Given the description of an element on the screen output the (x, y) to click on. 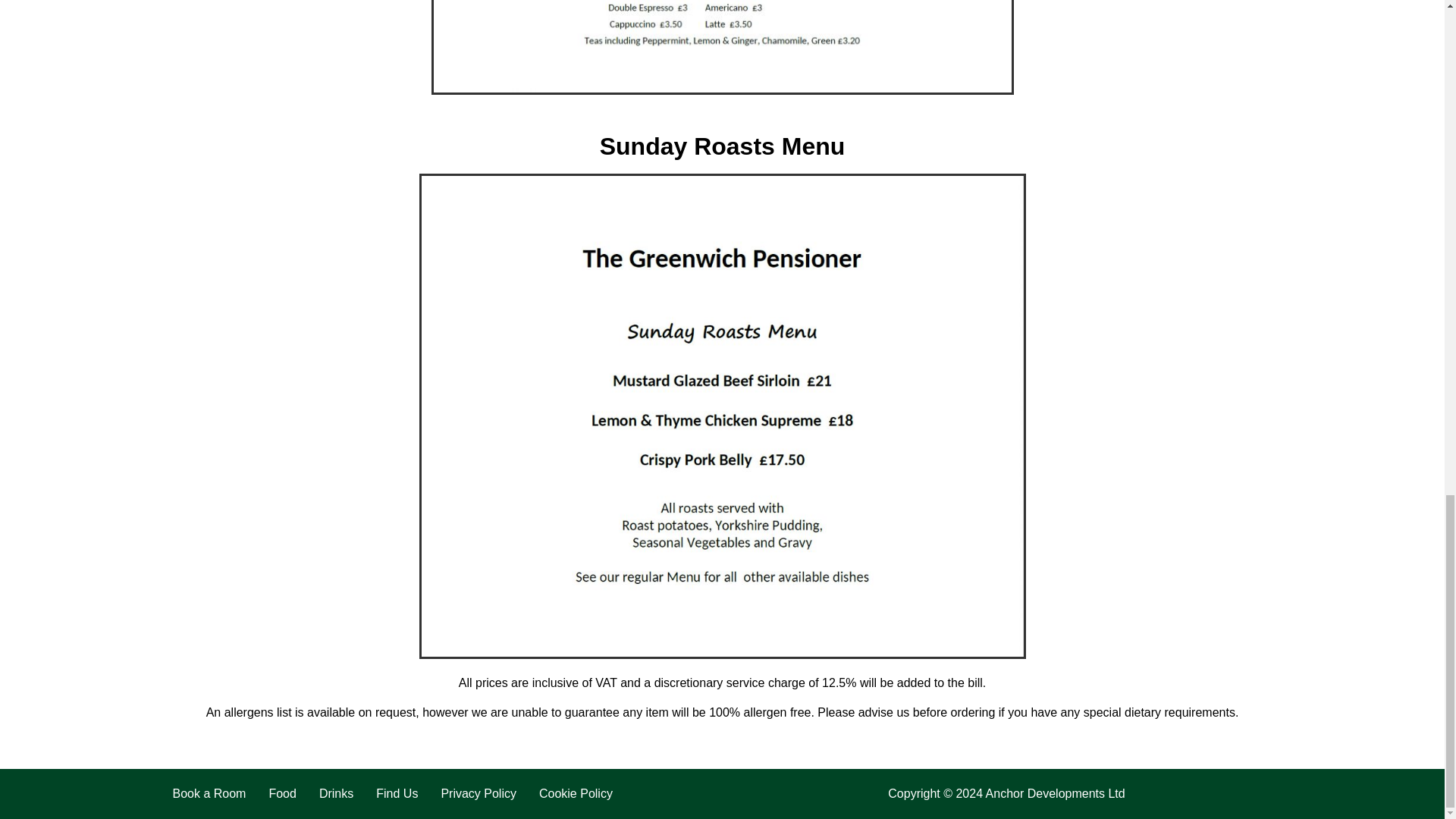
Drinks (336, 793)
Book a Room (208, 793)
Cookie Policy (575, 793)
Food (282, 793)
Find Us (397, 793)
Privacy Policy (478, 793)
